Given the description of an element on the screen output the (x, y) to click on. 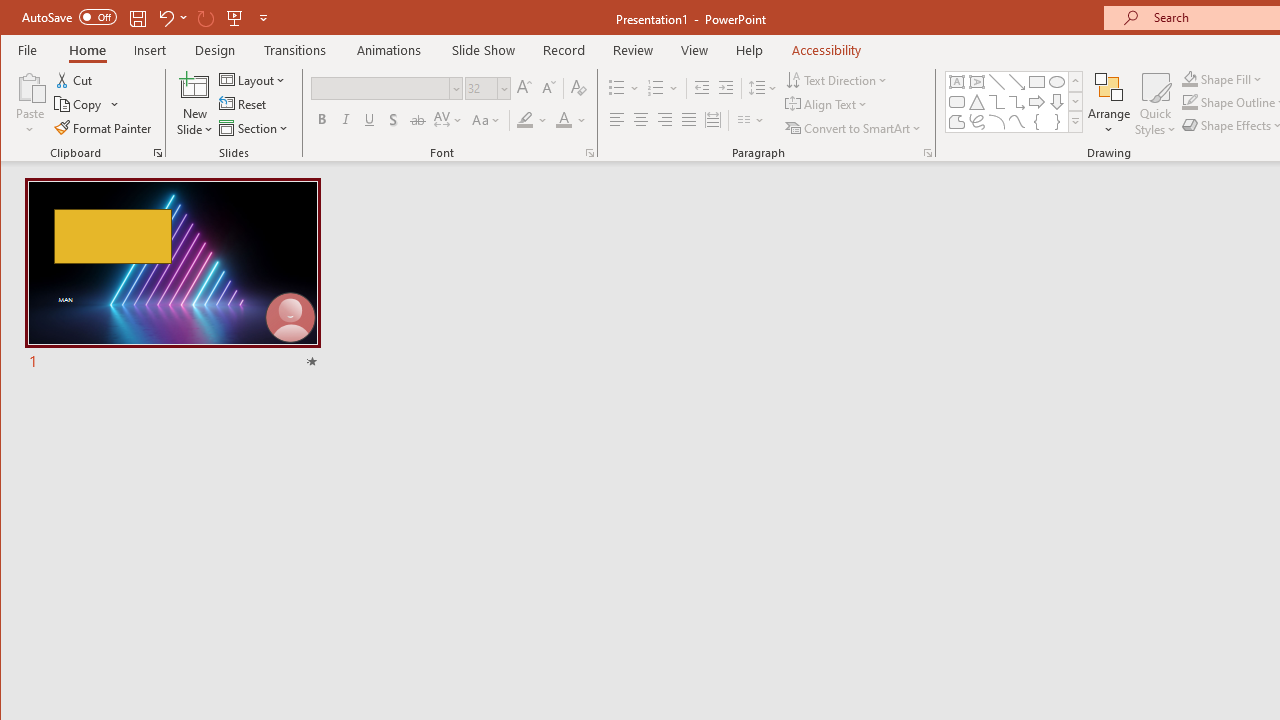
Accessibility (826, 50)
Review (632, 50)
Connector: Elbow Arrow (1016, 102)
Center (640, 119)
Rectangle: Rounded Corners (956, 102)
Decrease Indent (701, 88)
Right Brace (1057, 121)
Arrow: Right (1036, 102)
Increase Indent (726, 88)
Paste (29, 86)
Layout (253, 80)
System (18, 18)
Font Size (487, 88)
Arc (996, 121)
Text Direction (837, 80)
